Given the description of an element on the screen output the (x, y) to click on. 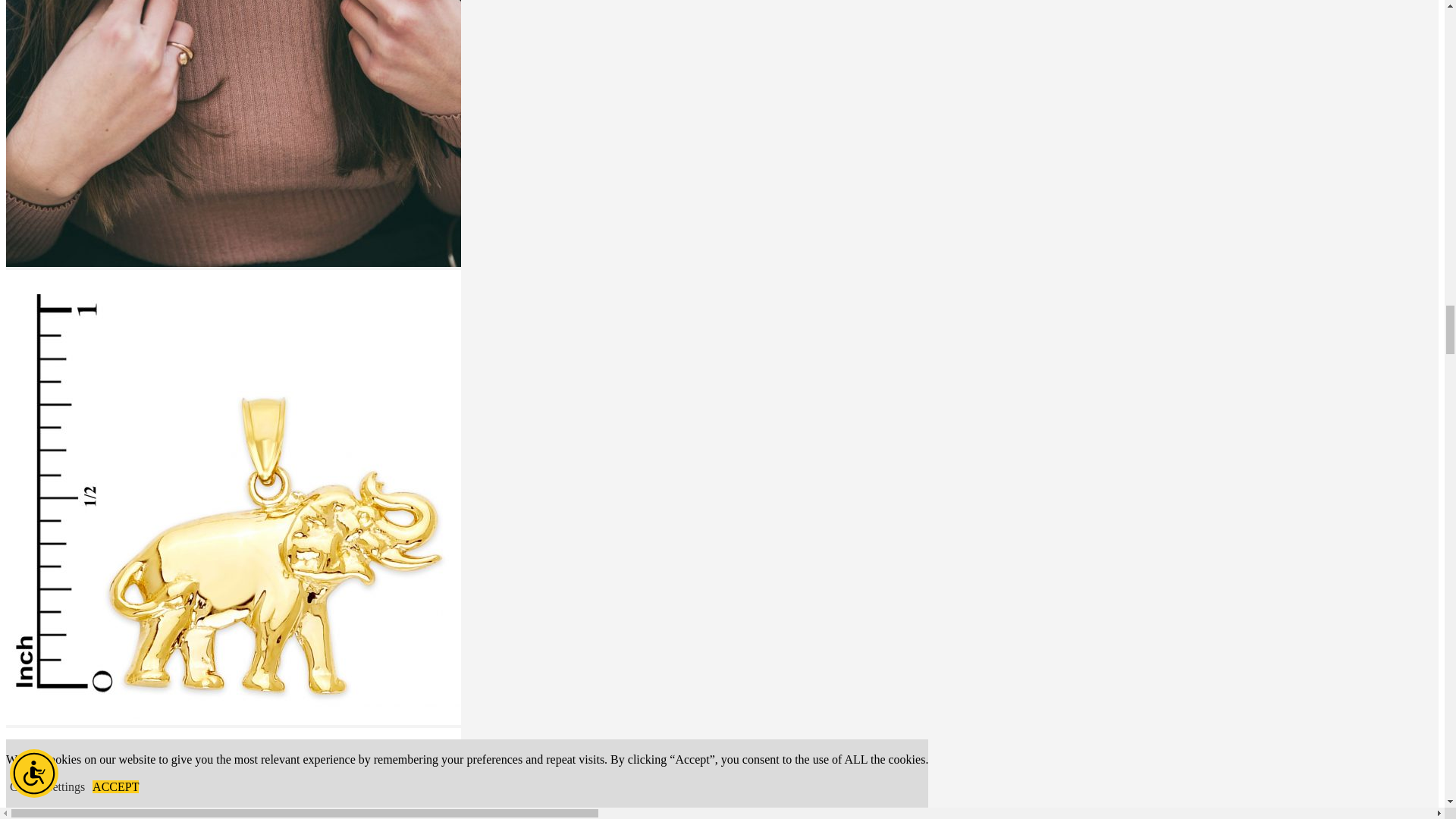
2043-03 Chest (233, 133)
